Given the description of an element on the screen output the (x, y) to click on. 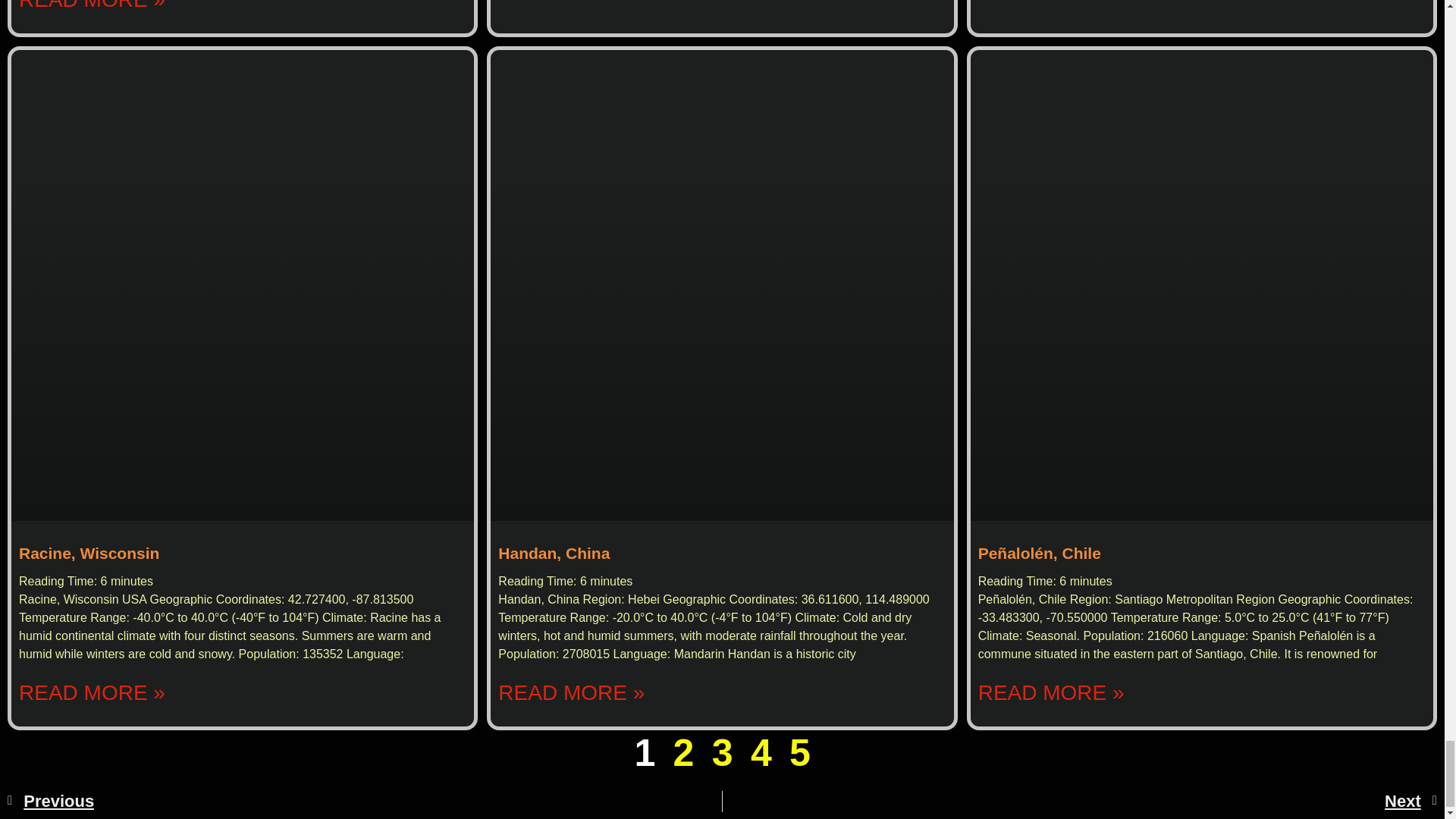
Handan, China (553, 552)
Racine, Wisconsin (88, 552)
Next (1079, 801)
Previous (364, 801)
